Given the description of an element on the screen output the (x, y) to click on. 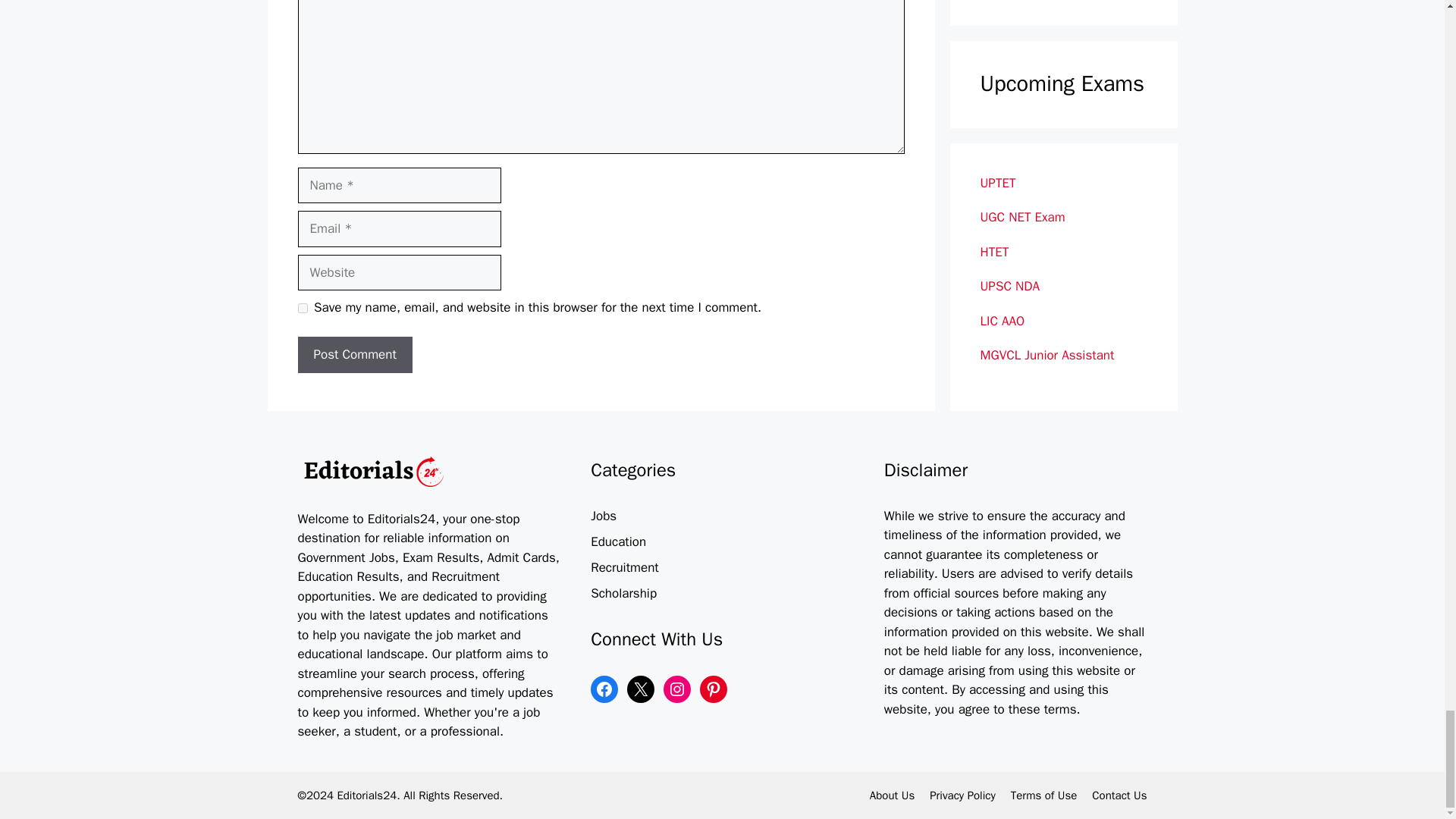
Privacy Policy (962, 795)
About Us (891, 795)
Post Comment (354, 354)
Recruitment (625, 567)
X (640, 688)
Facebook (604, 688)
Pinterest (713, 688)
Education (618, 541)
Terms of Use (1043, 795)
Post Comment (354, 354)
